Given the description of an element on the screen output the (x, y) to click on. 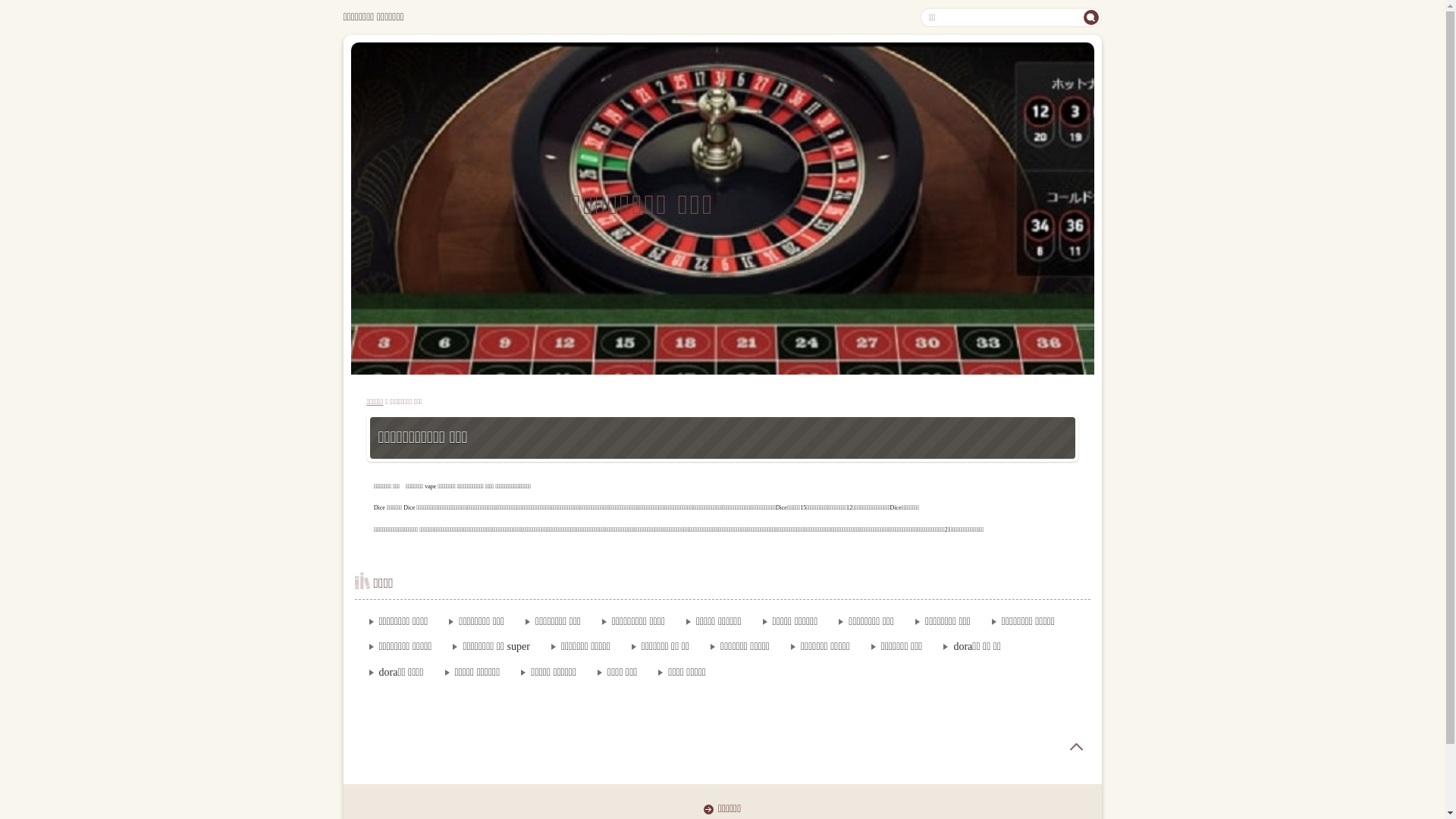
page top Element type: text (1076, 746)
